Given the description of an element on the screen output the (x, y) to click on. 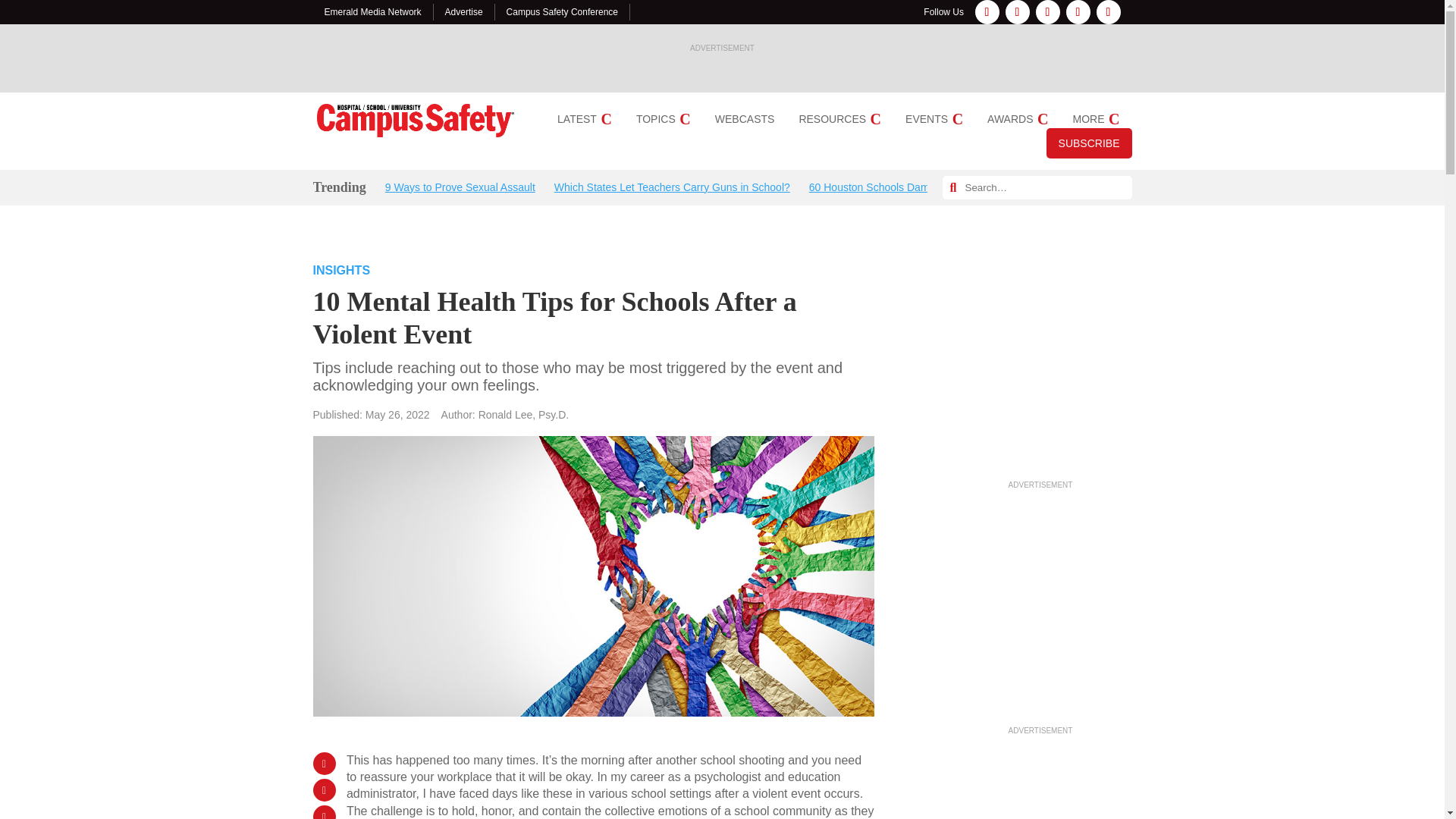
Follow on Instagram (1017, 12)
Advertise (464, 11)
LATEST (584, 118)
Emerald Media Network (373, 11)
Follow on Youtube (1108, 12)
Follow on Facebook (986, 12)
Follow on LinkedIn (1047, 12)
Campus Safety Conference (561, 11)
Follow on X (1077, 12)
TOPICS (663, 118)
